Given the description of an element on the screen output the (x, y) to click on. 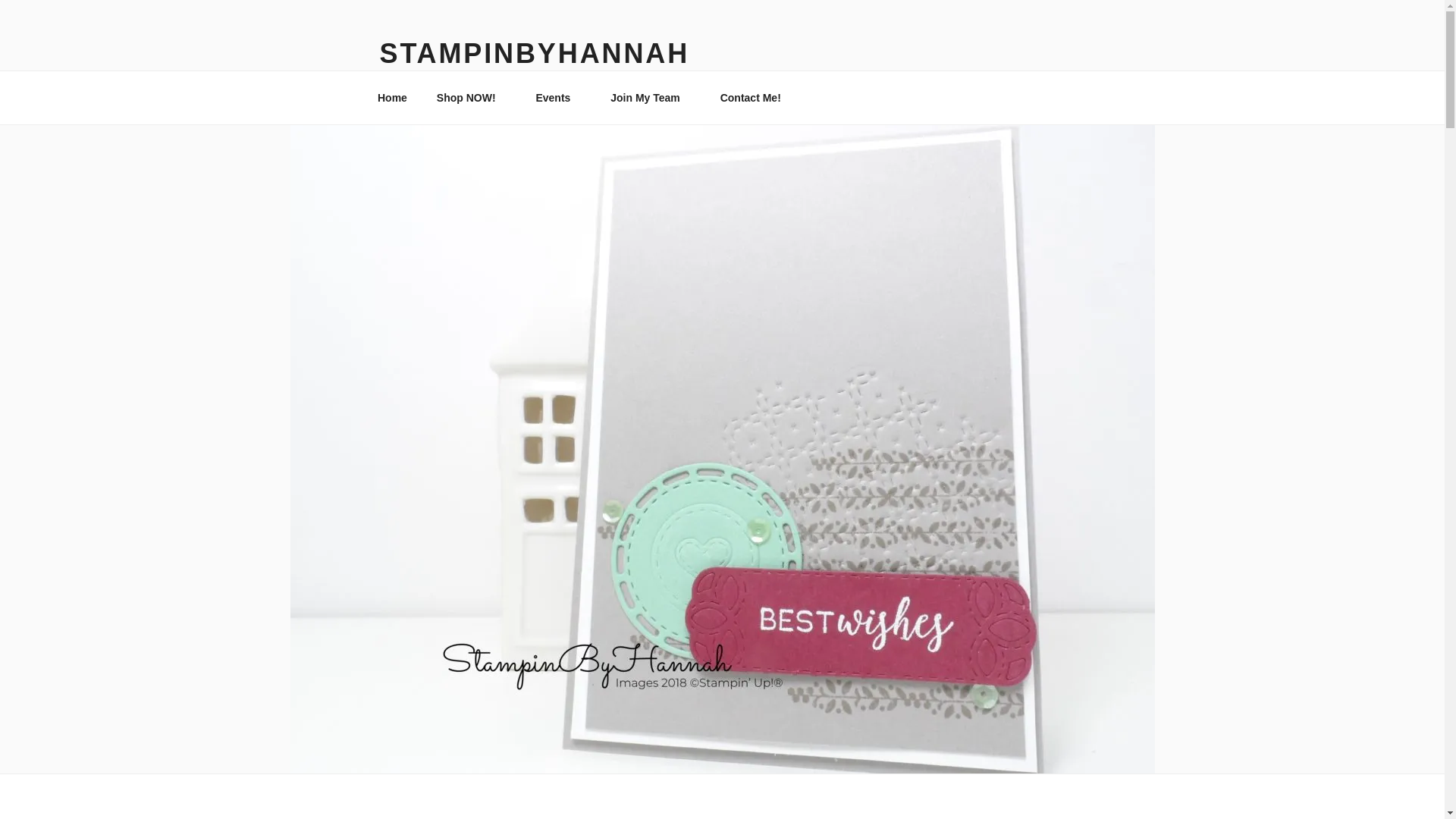
Shop NOW! (471, 97)
Contact Me! (755, 97)
Join My Team (650, 97)
STAMPINBYHANNAH (533, 52)
Events (558, 97)
Home (392, 97)
